Given the description of an element on the screen output the (x, y) to click on. 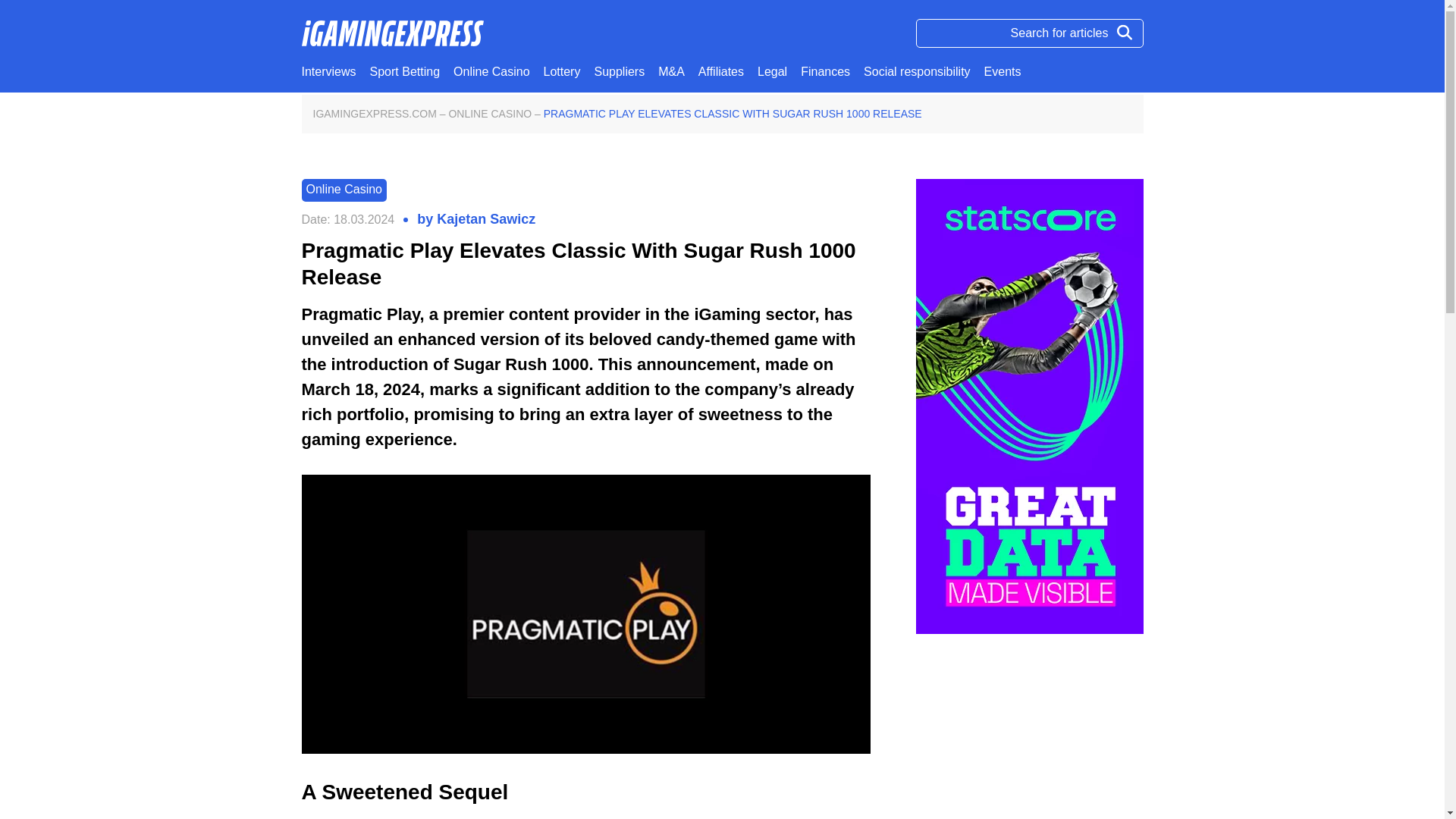
Online Casino (490, 72)
Online Casino (344, 190)
Sport Betting (405, 72)
Lottery (561, 72)
Suppliers (619, 72)
Events (1003, 72)
Affiliates (721, 72)
Kajetan Sawicz (485, 219)
Interviews (328, 72)
Legal (772, 72)
Finances (825, 72)
IGAMINGEXPRESS.COM (374, 114)
ONLINE CASINO (489, 114)
Social responsibility (917, 72)
Search for articles (1028, 32)
